Given the description of an element on the screen output the (x, y) to click on. 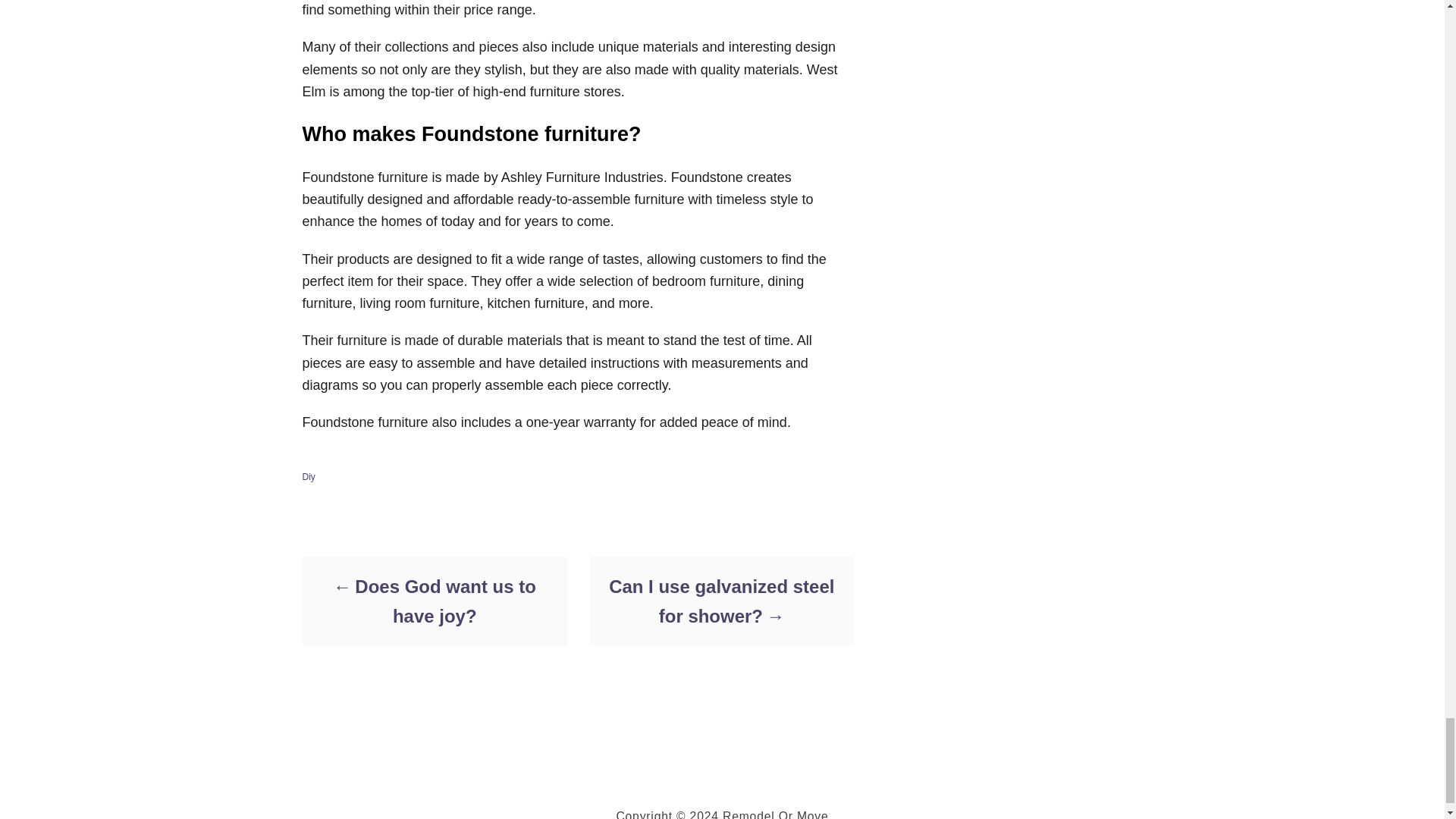
Does God want us to have joy? (434, 600)
Can I use galvanized steel for shower? (721, 600)
Diy (307, 476)
